Given the description of an element on the screen output the (x, y) to click on. 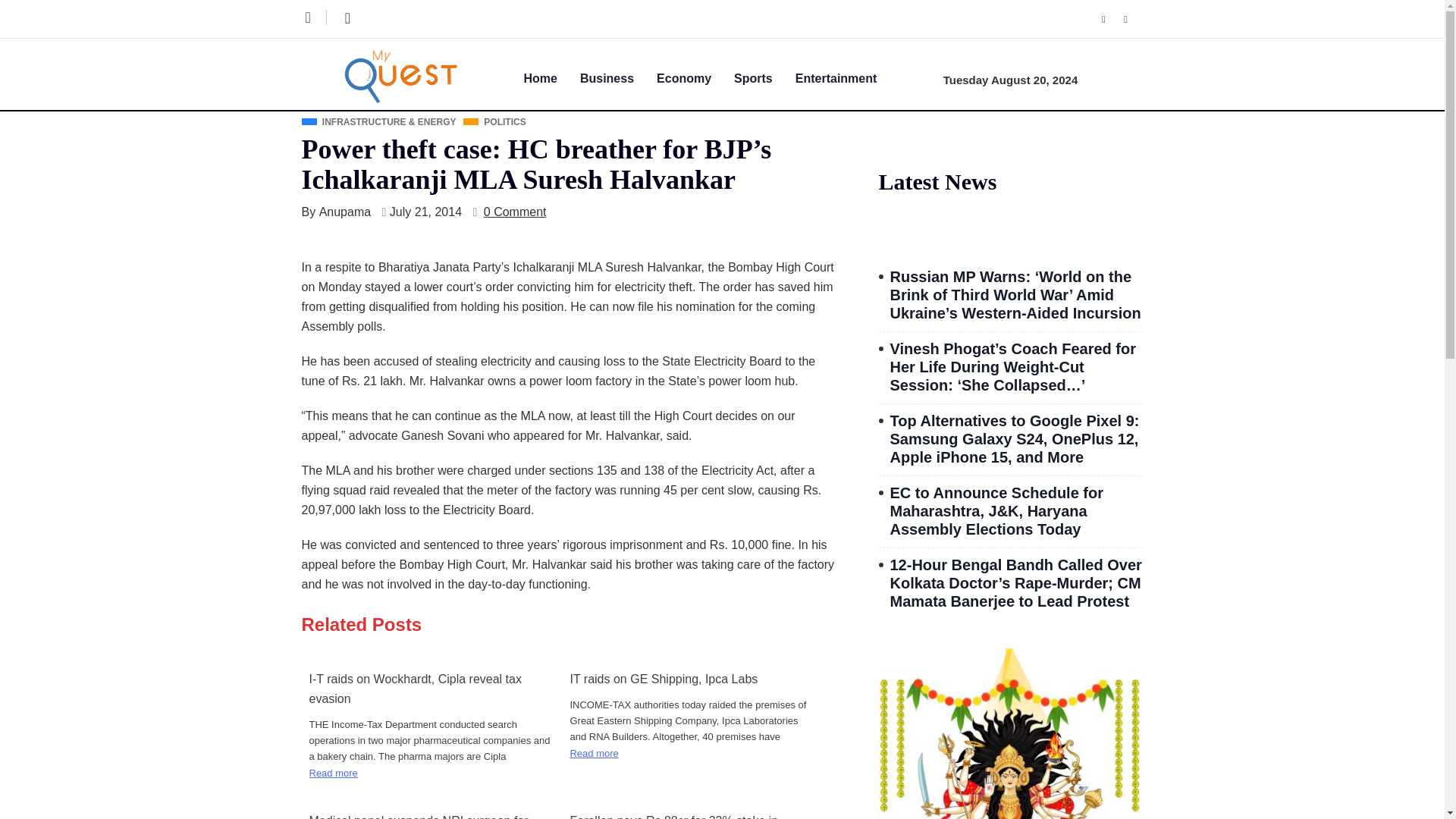
POLITICS (494, 122)
Anupama (344, 211)
Medical panel suspends NRI surgeon for telling lies (429, 815)
Business (617, 78)
I-T raids on Wockhardt, Cipla reveal tax evasion (429, 689)
Home (550, 78)
IT raids on GE Shipping, Ipca Labs (690, 679)
Entertainment (846, 78)
Read more (593, 753)
I-T raids on Wockhardt, Cipla reveal tax evasion (429, 689)
